Given the description of an element on the screen output the (x, y) to click on. 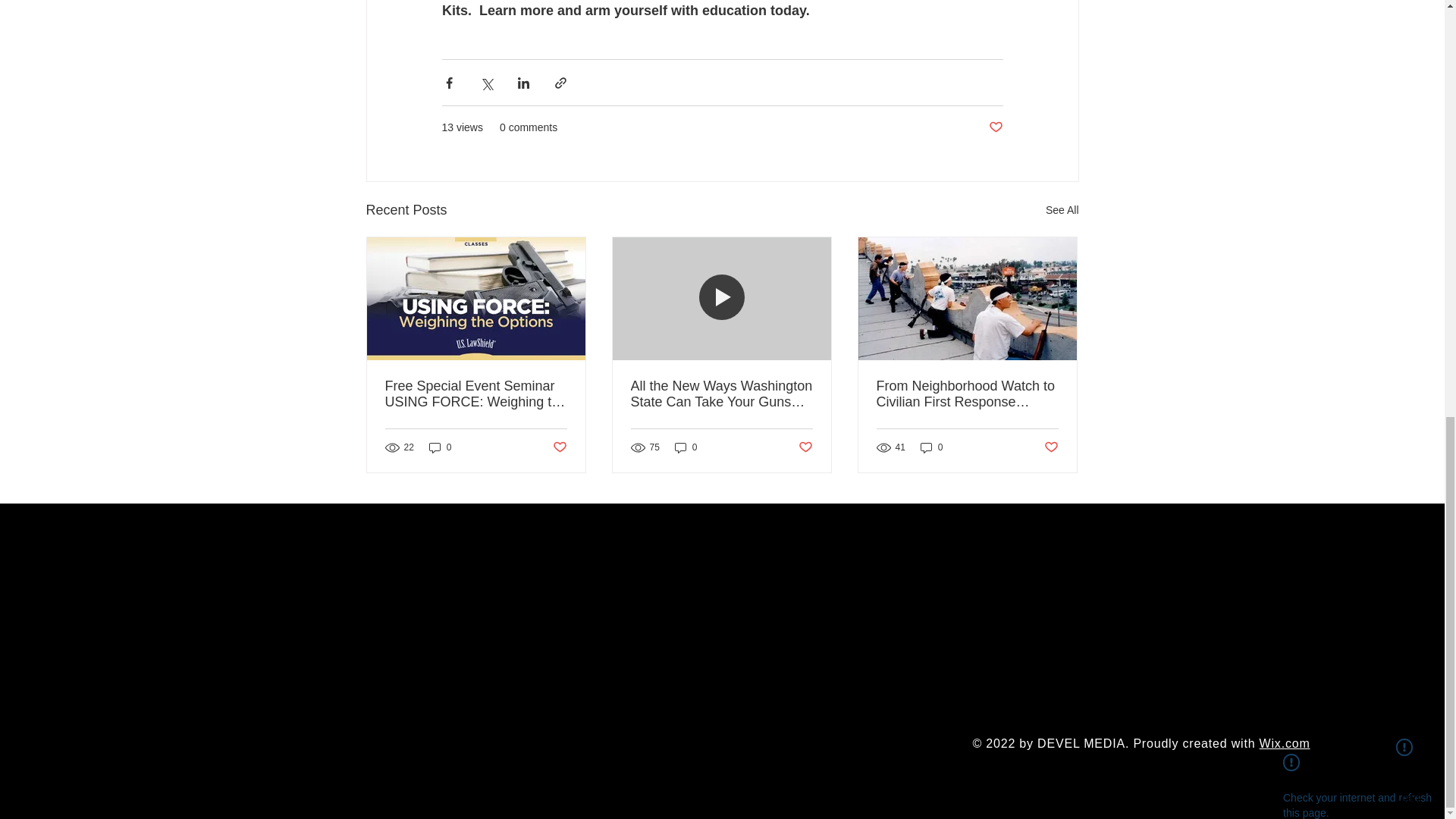
Post not marked as liked (1050, 447)
0 (685, 447)
Post not marked as liked (558, 447)
Free Special Event Seminar USING FORCE: Weighing the Options (476, 394)
0 (931, 447)
0 (440, 447)
See All (1061, 210)
Post not marked as liked (995, 127)
Wix.com (1284, 743)
Post not marked as liked (804, 447)
